Given the description of an element on the screen output the (x, y) to click on. 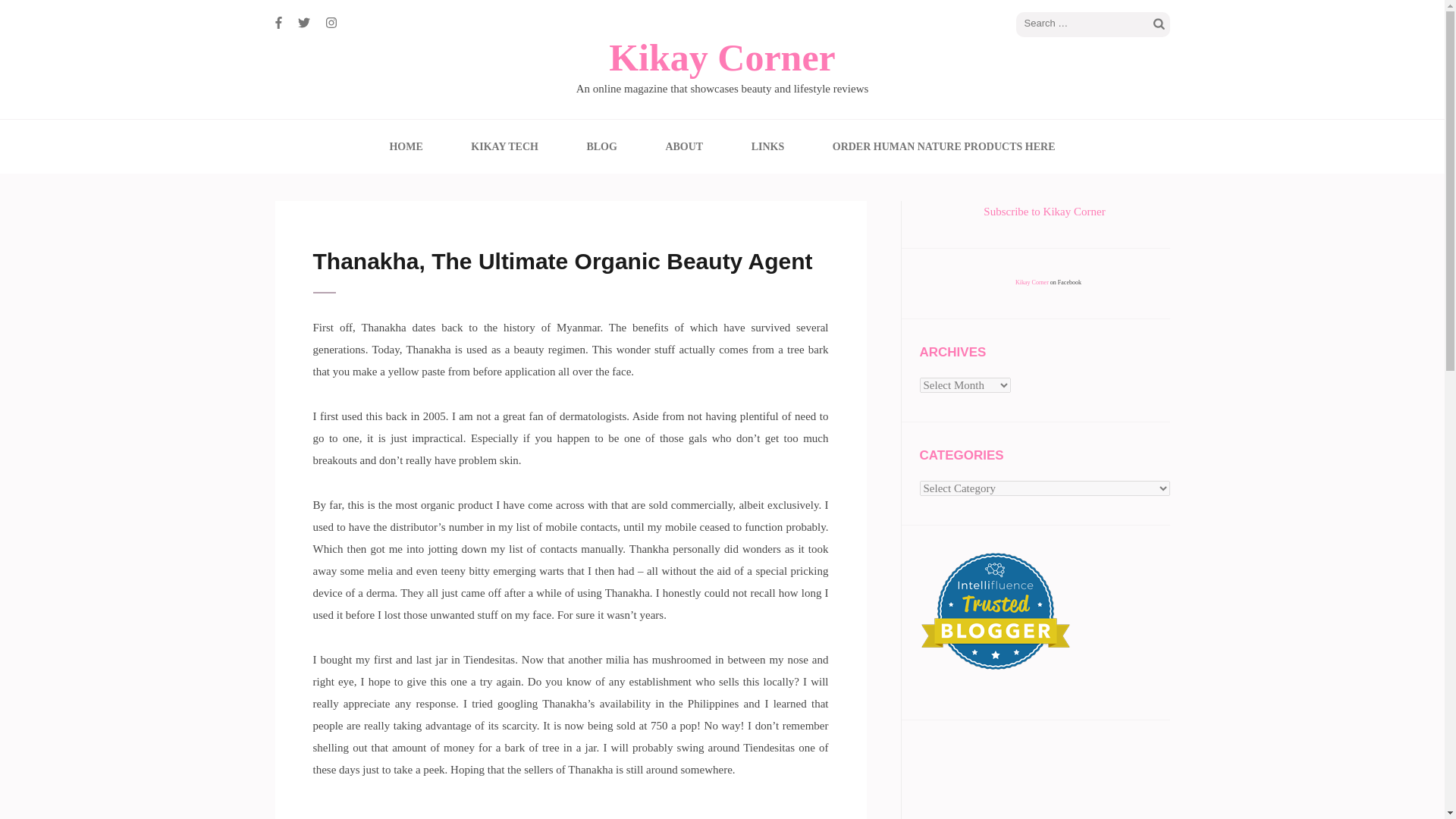
Kikay Corner (721, 56)
Search (1158, 24)
LINKS (767, 145)
Instagram (331, 22)
ORDER HUMAN NATURE PRODUCTS HERE (943, 145)
KIKAY TECH (504, 145)
Facebook (278, 22)
Search (1158, 24)
ABOUT (684, 145)
Kikay Corner (1031, 282)
Search (1158, 24)
Subscribe to Kikay Corner (1044, 211)
BLOG (600, 145)
HOME (405, 145)
Twitter (302, 22)
